Given the description of an element on the screen output the (x, y) to click on. 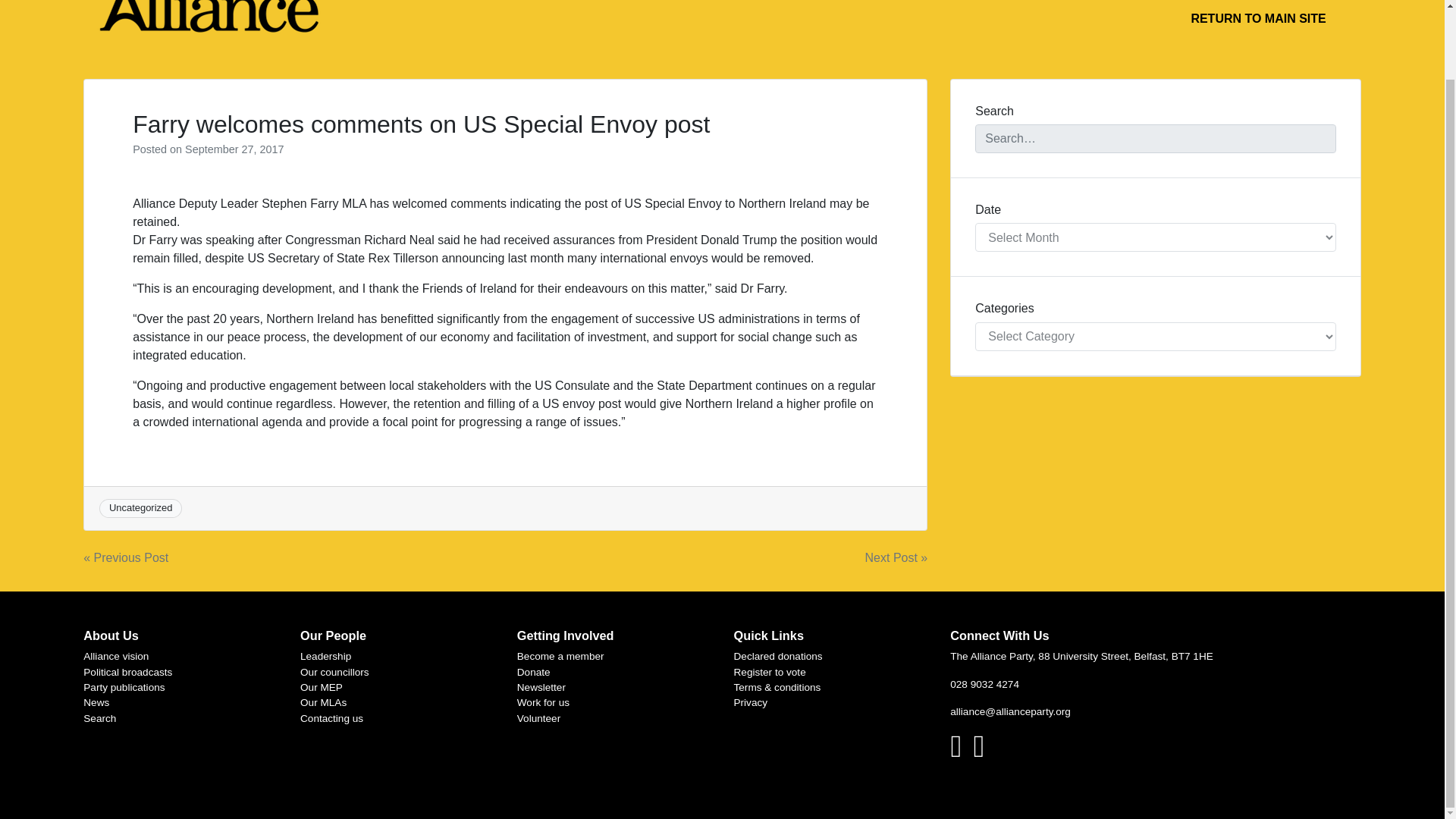
Our MLAs (322, 702)
Newsletter (541, 686)
Become a member (560, 655)
Political broadcasts (126, 672)
Alliance vision (115, 655)
September 27, 2017 (233, 149)
Privacy (750, 702)
Leadership (324, 655)
Party publications (123, 686)
News (95, 702)
Declared donations (777, 655)
Search (99, 717)
028 9032 4274 (984, 684)
RETURN TO MAIN SITE (1257, 19)
Our MEP (320, 686)
